Given the description of an element on the screen output the (x, y) to click on. 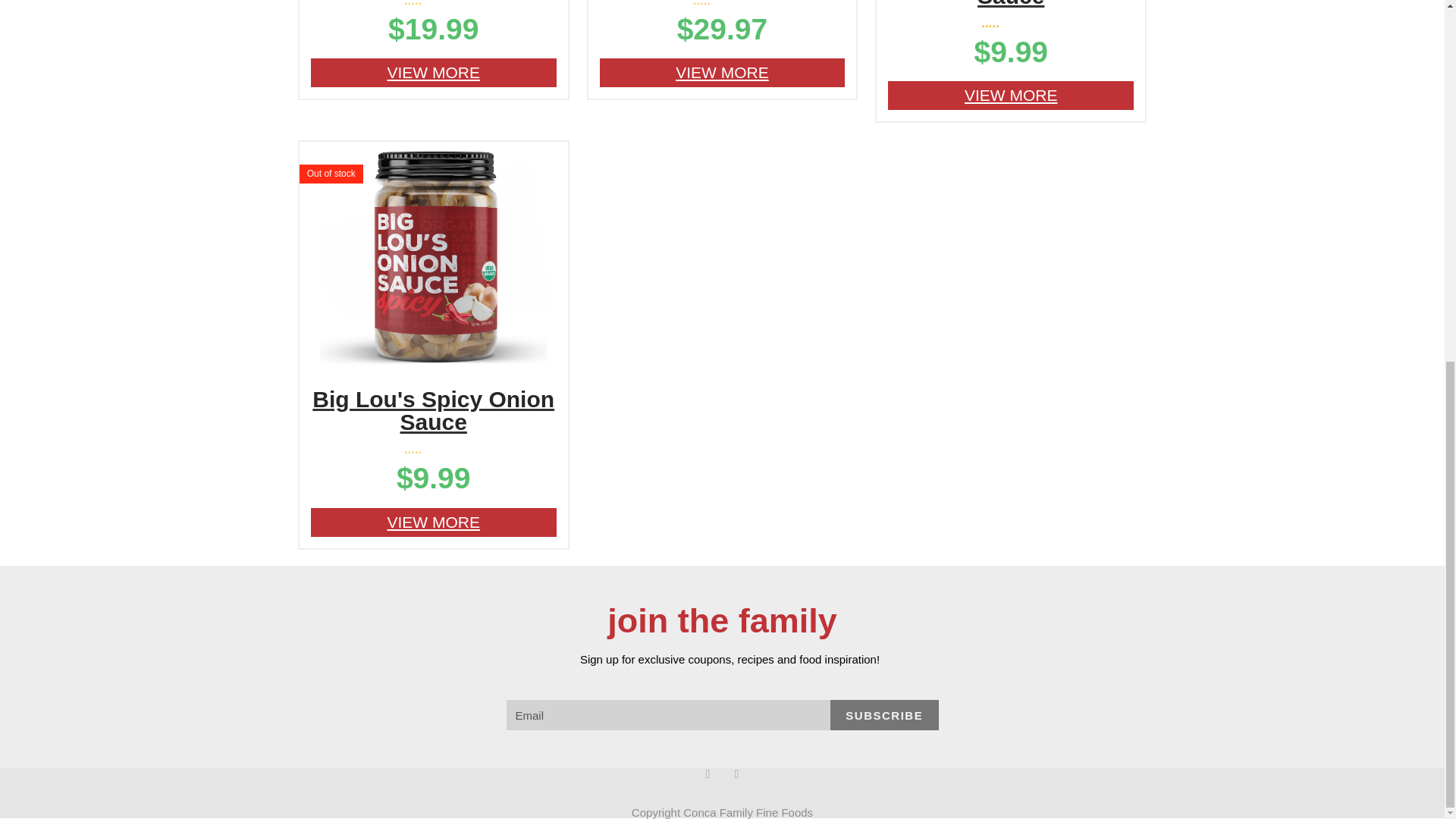
VIEW MORE (433, 72)
